Given the description of an element on the screen output the (x, y) to click on. 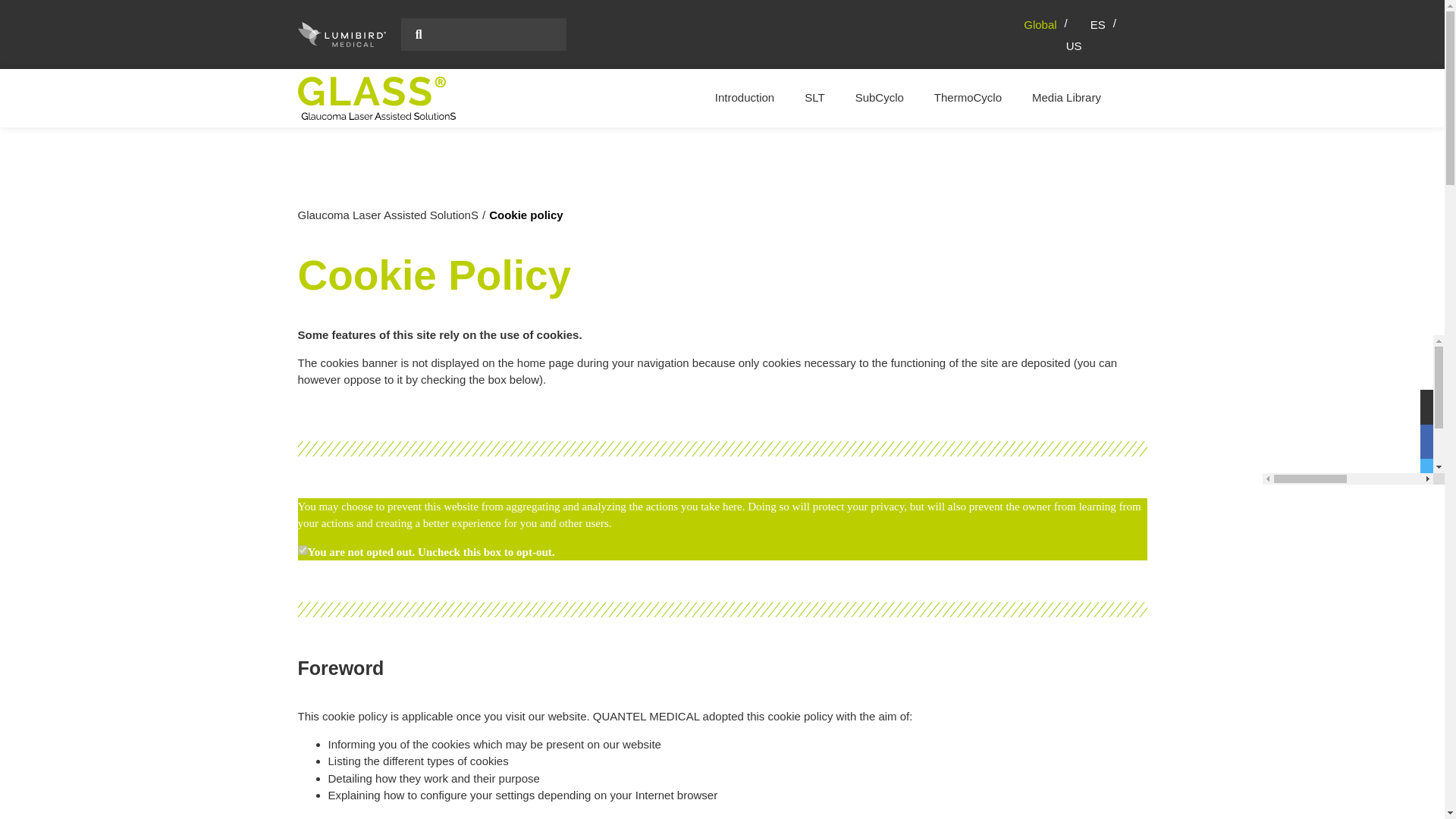
on (302, 550)
SubCyclo (879, 98)
Media Library (1066, 98)
Introduction (744, 98)
ES (1107, 24)
US (1073, 45)
Glaucoma Laser Assisted SolutionS (387, 215)
Global (1049, 24)
SLT (814, 98)
ThermoCyclo (967, 98)
